Given the description of an element on the screen output the (x, y) to click on. 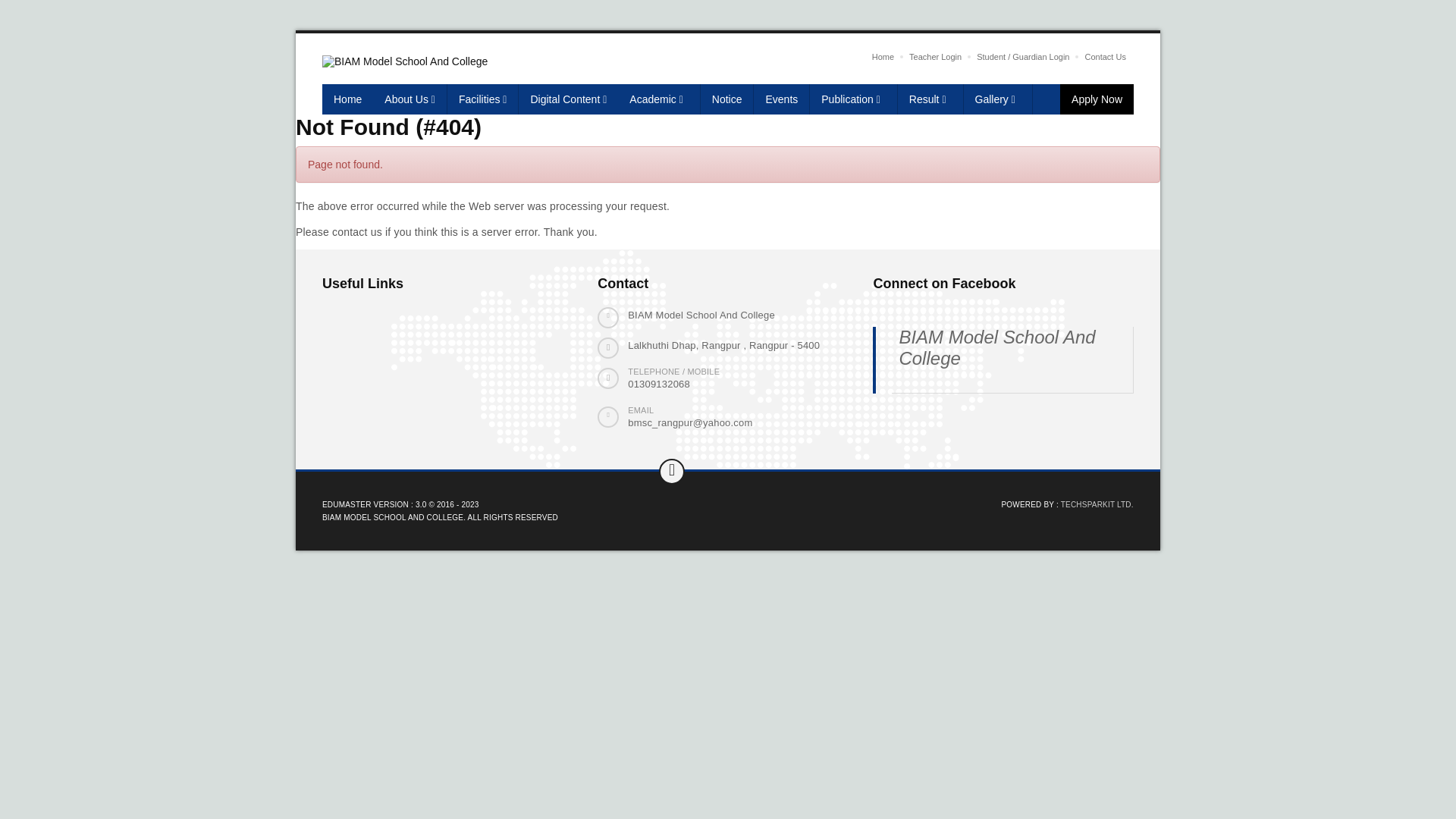
BIAM Model School And College Element type: text (996, 347)
Events Element type: text (781, 99)
Teacher Login Element type: text (935, 56)
Notice Element type: text (727, 99)
Contact Us Element type: text (1104, 56)
Home Element type: text (347, 99)
About Us Element type: text (410, 99)
Student / Guardian Login Element type: text (1022, 56)
Facilities Element type: text (482, 99)
Academic Element type: text (658, 99)
Publication Element type: text (853, 99)
bmsc_rangpur@yahoo.com Element type: text (689, 422)
Digital Content Element type: text (568, 99)
Home Element type: text (882, 56)
Apply Now Element type: text (1096, 99)
TECHSPARKIT LTD. Element type: text (1096, 504)
Gallery Element type: text (997, 99)
Result Element type: text (930, 99)
